Given the description of an element on the screen output the (x, y) to click on. 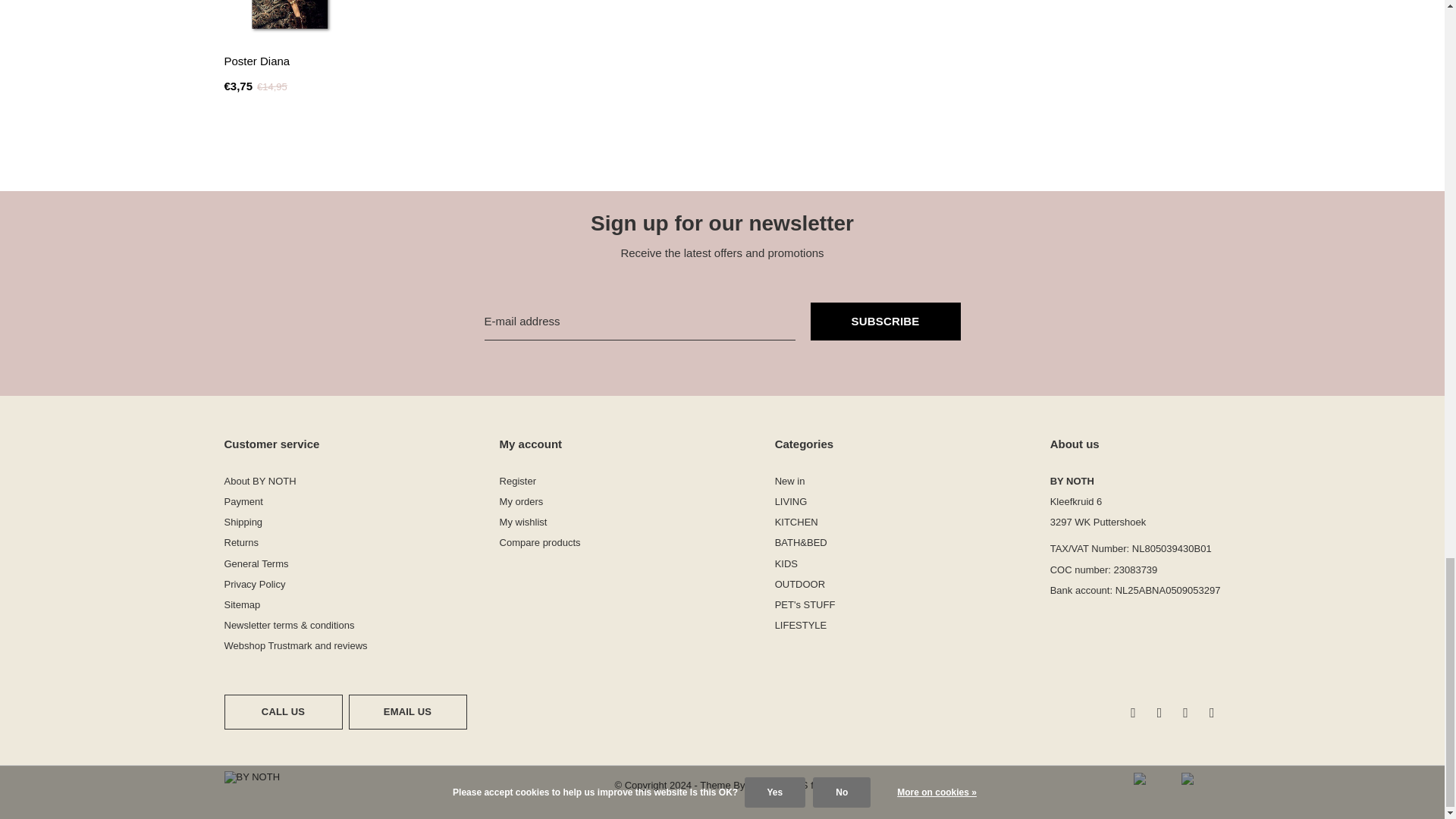
Register (517, 480)
My orders (521, 501)
My wishlist (523, 521)
